Given the description of an element on the screen output the (x, y) to click on. 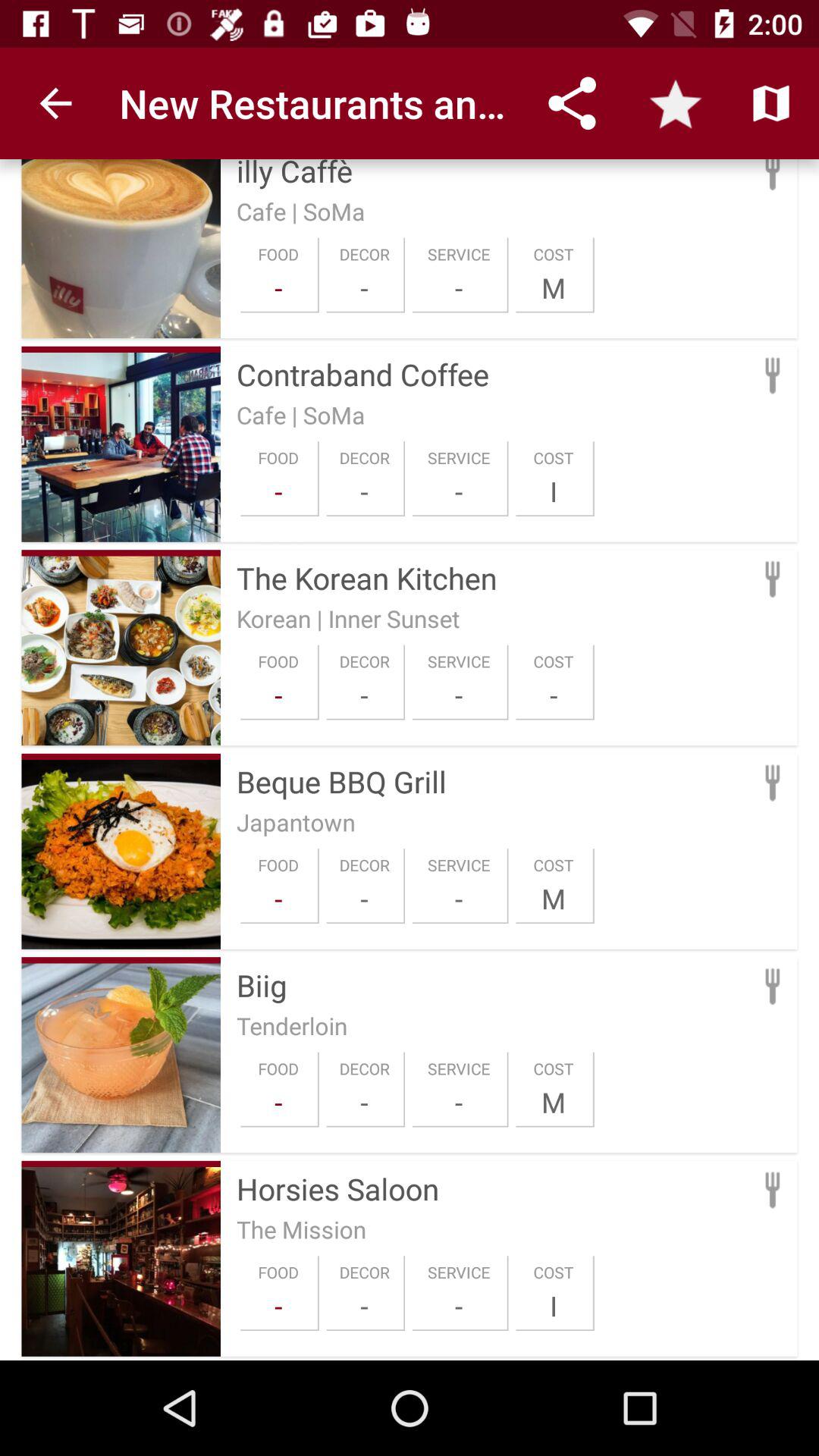
jump until the japantown icon (295, 821)
